Given the description of an element on the screen output the (x, y) to click on. 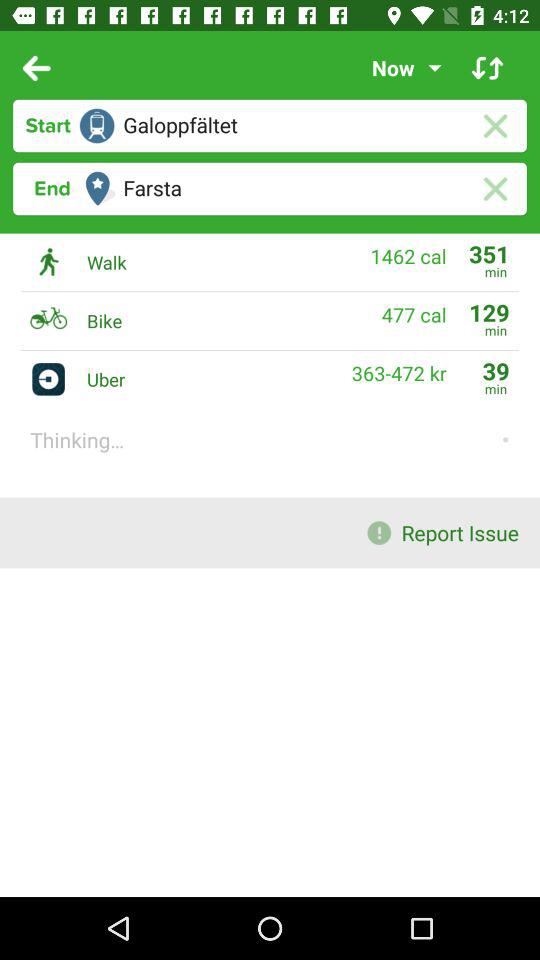
close this option (494, 188)
